Given the description of an element on the screen output the (x, y) to click on. 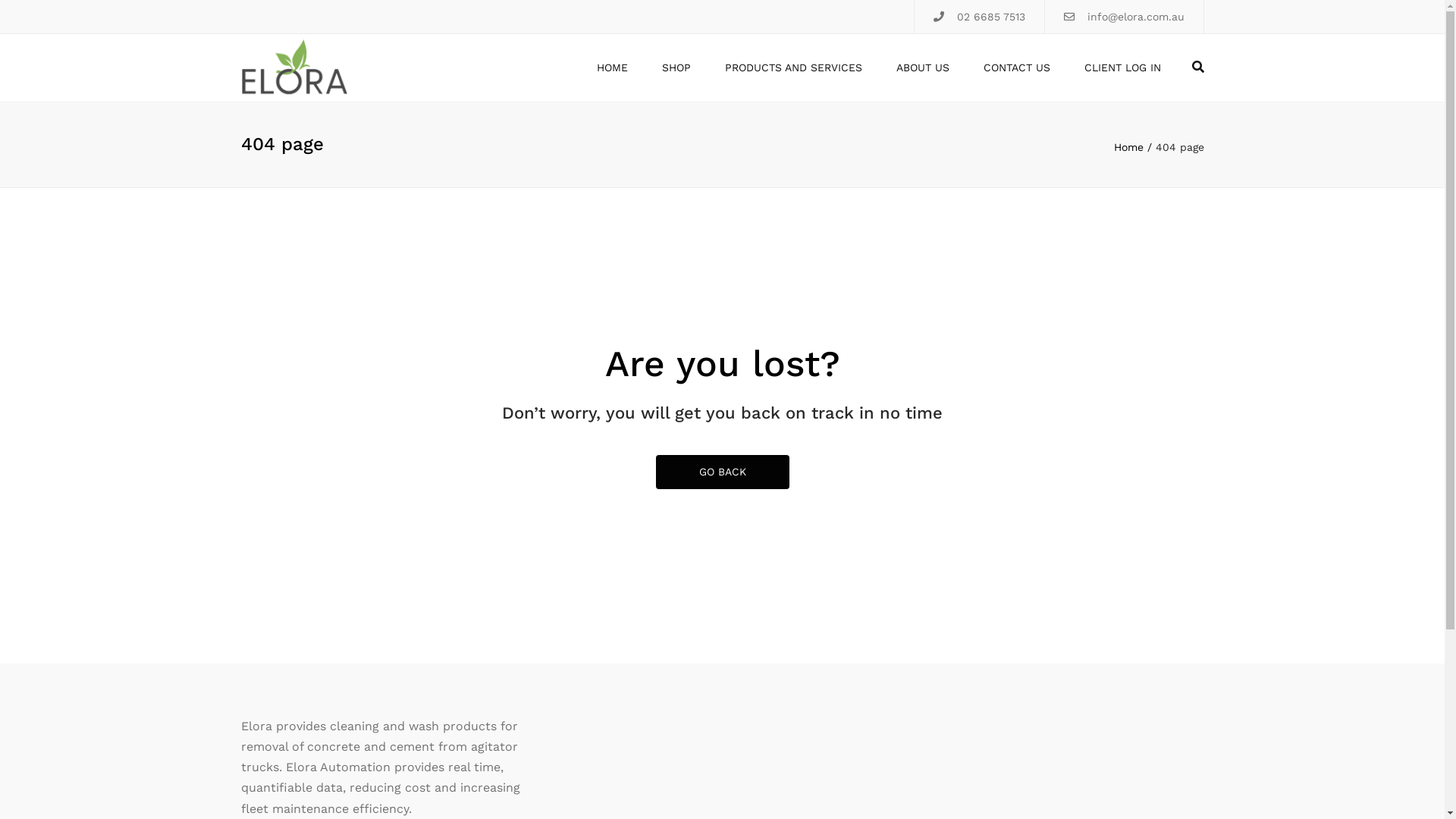
info@elora.com.au Element type: text (1135, 16)
SHOP Element type: text (675, 67)
HOME Element type: text (611, 67)
Home Element type: text (1133, 147)
02 6685 7513 Element type: text (991, 16)
ABOUT US Element type: text (922, 67)
Search Element type: text (1197, 66)
CONTACT US Element type: text (1016, 67)
CLIENT LOG IN Element type: text (1122, 67)
GO BACK Element type: text (721, 472)
PRODUCTS AND SERVICES Element type: text (793, 67)
